Given the description of an element on the screen output the (x, y) to click on. 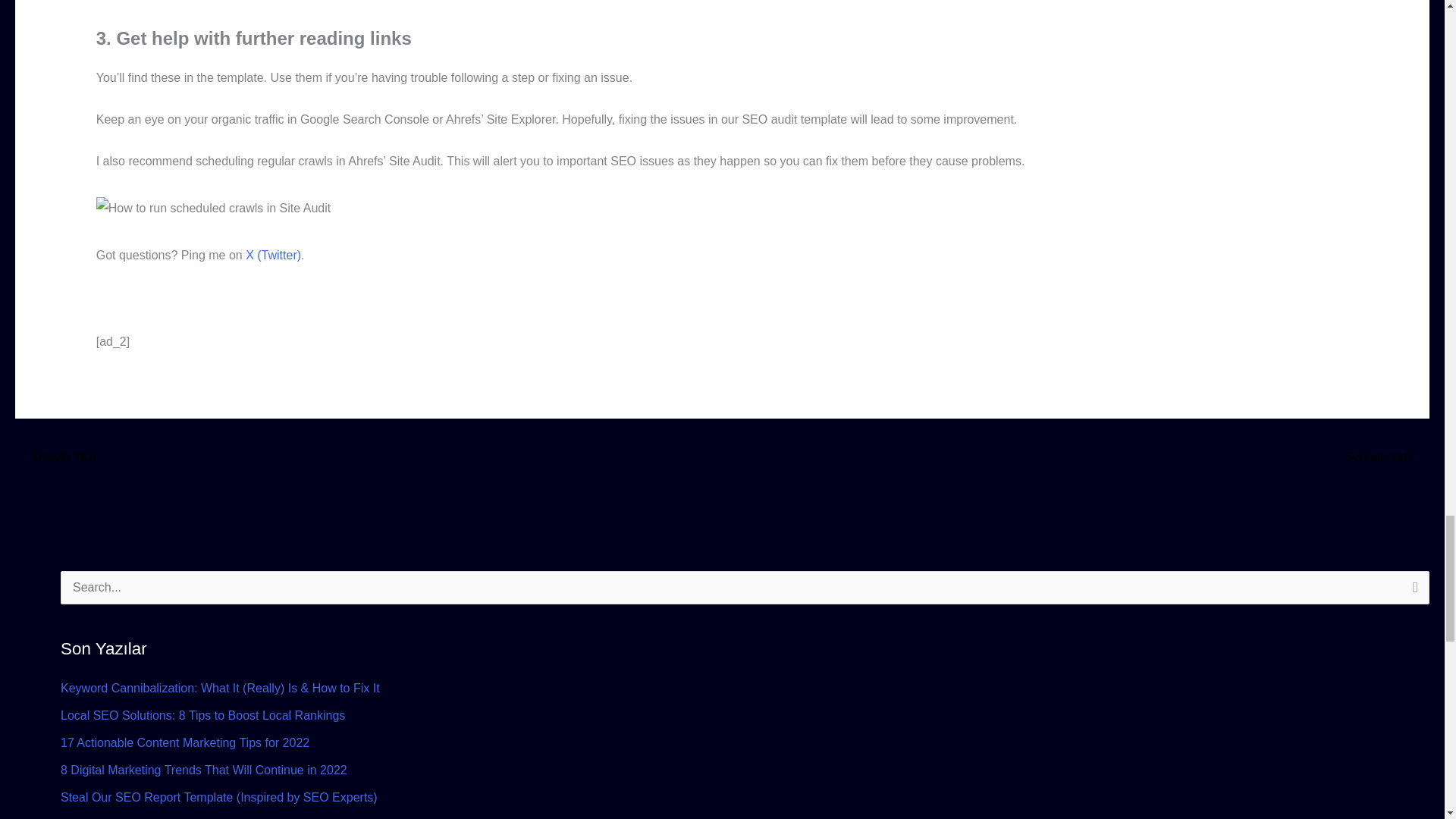
8 Digital Marketing Trends That Will Continue in 2022 (204, 769)
17 Actionable Content Marketing Tips for 2022 (184, 742)
8 On-Page SEO Factors You Can't Ignore (56, 458)
Local SEO Solutions: 8 Tips to Boost Local Rankings (203, 715)
SEO Community Spotlight: Singapore (1385, 458)
